Given the description of an element on the screen output the (x, y) to click on. 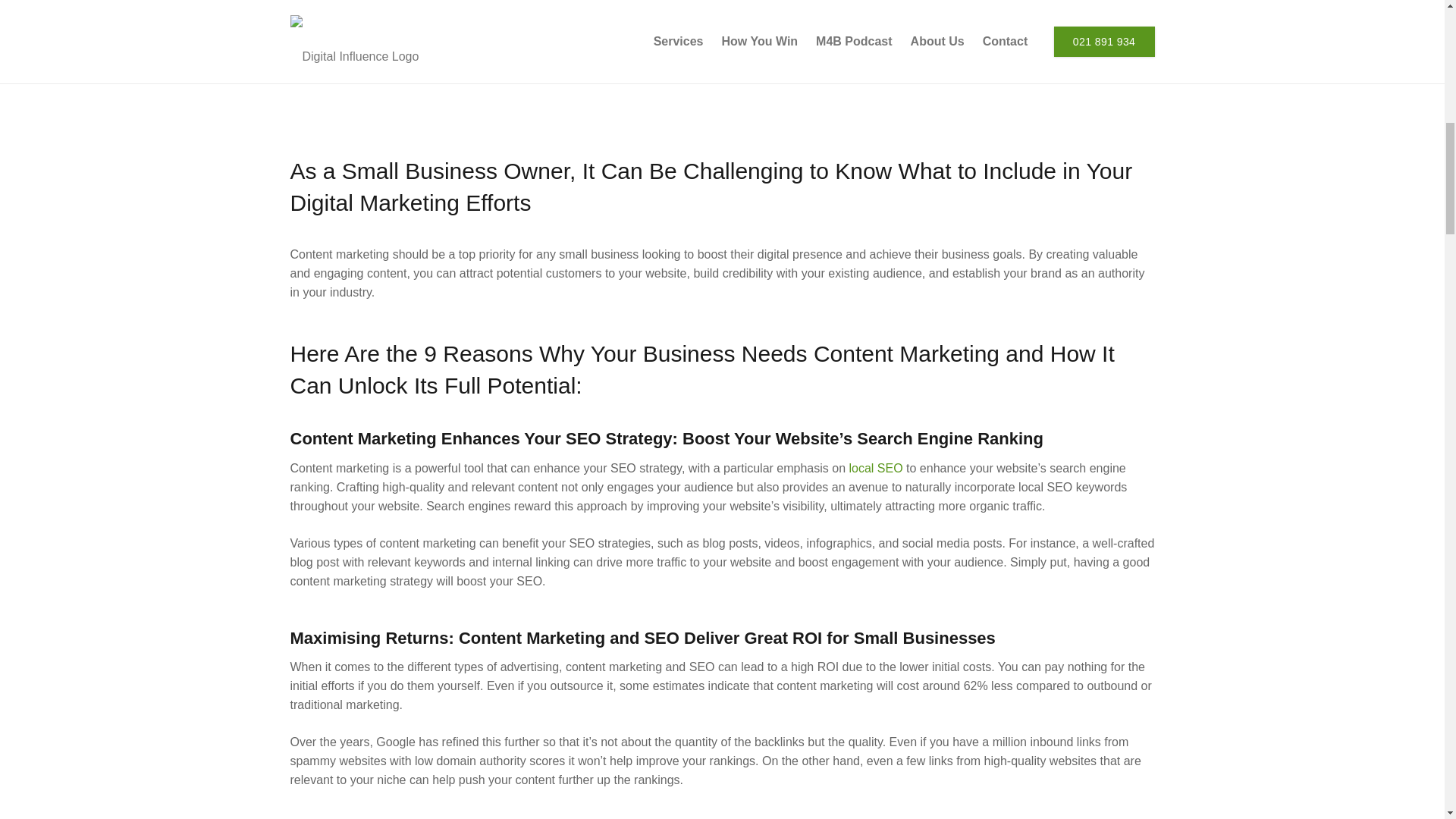
Back to top (30, 30)
local SEO (875, 468)
